Given the description of an element on the screen output the (x, y) to click on. 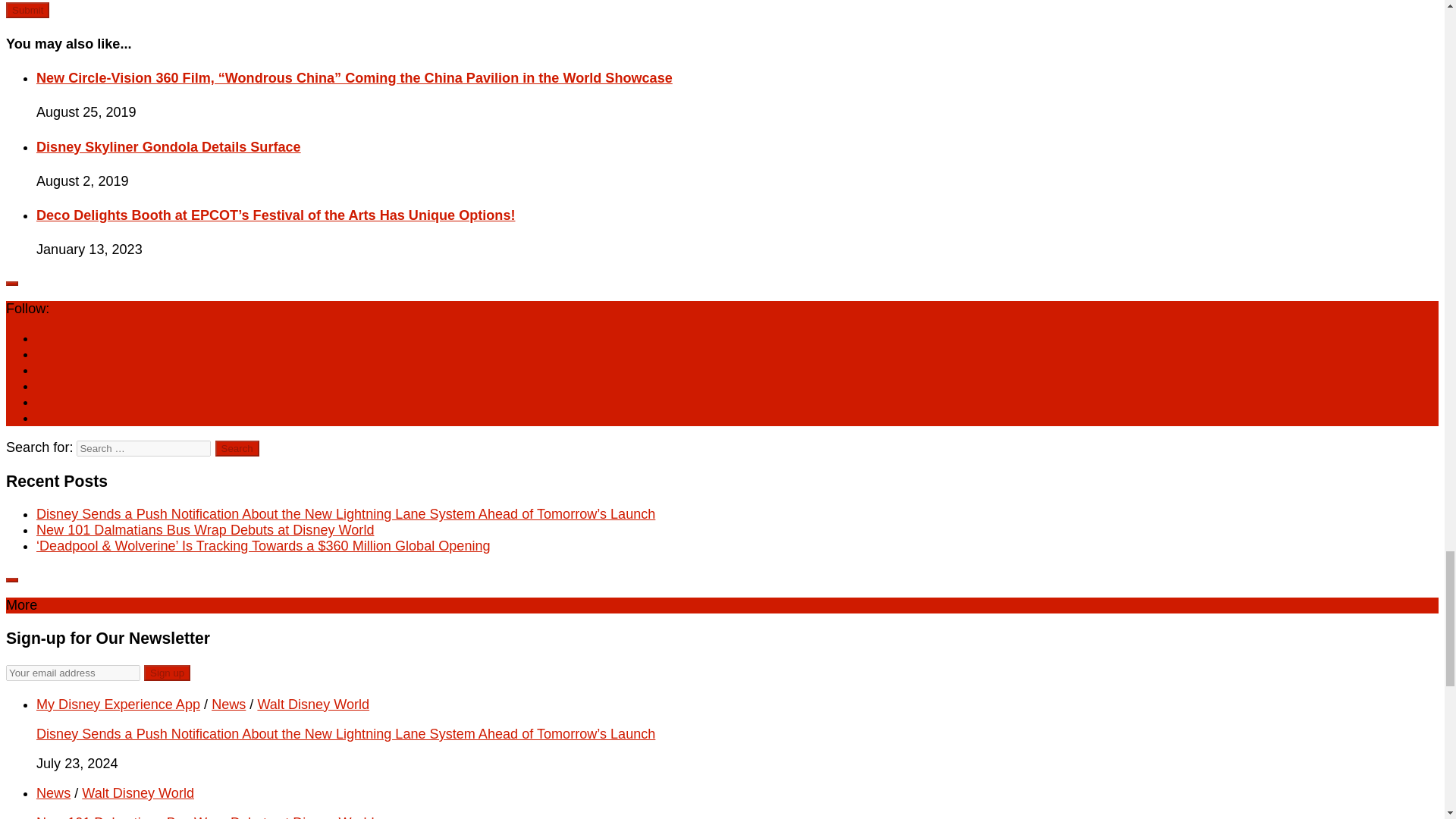
Sign up (167, 672)
Expand Sidebar (11, 283)
Search (237, 448)
Expand Sidebar (11, 580)
Submit (27, 10)
Search (237, 448)
